Given the description of an element on the screen output the (x, y) to click on. 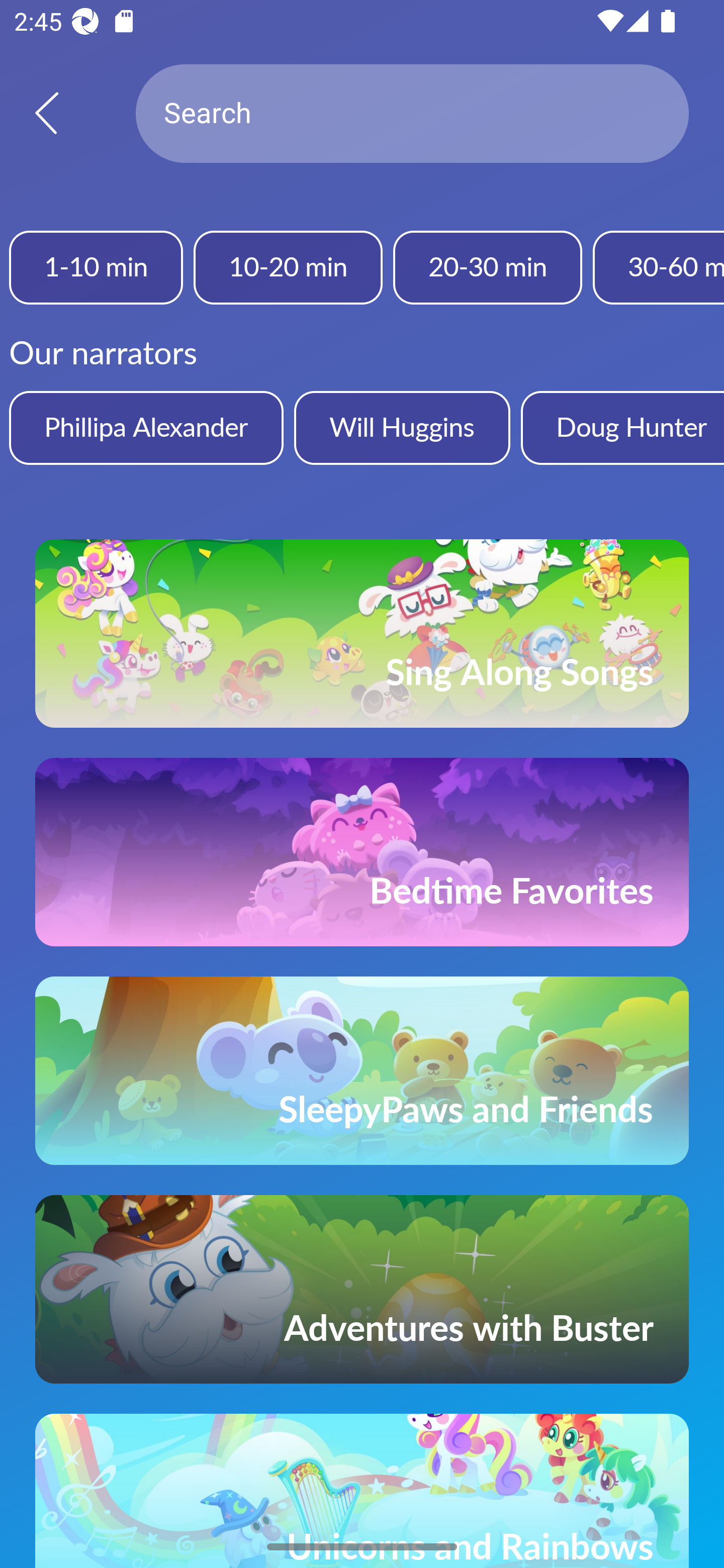
Search (412, 113)
1-10 min (95, 267)
10-20 min (287, 267)
20-30 min (487, 267)
30-60 min (658, 267)
Phillipa Alexander (145, 427)
Will Huggins (401, 427)
Doug Hunter (622, 427)
Sing Along Songs (361, 633)
Bedtime Favorites (361, 852)
SleepyPaws and Friends (361, 1070)
Adventures with Buster (361, 1288)
Unicorns and Rainbows (361, 1491)
